Given the description of an element on the screen output the (x, y) to click on. 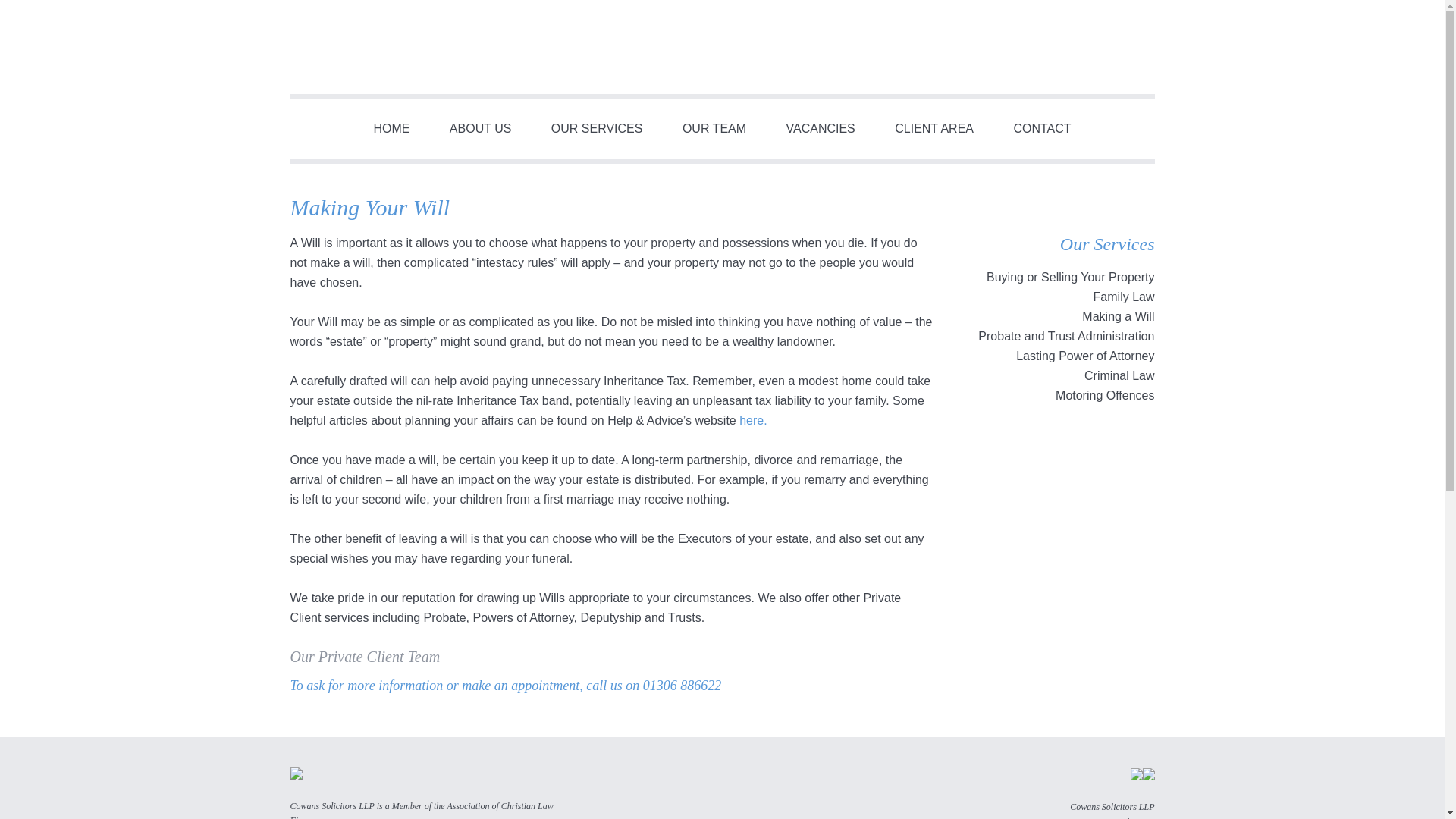
CONTACT (1041, 128)
VACANCIES (819, 128)
OUR SERVICES (596, 128)
Family Law (1123, 296)
Criminal Law (1119, 375)
Making a Will (1117, 316)
ABOUT US (479, 128)
Buying or Selling Your Property (1070, 277)
OUR TEAM (713, 128)
here. (753, 420)
